Given the description of an element on the screen output the (x, y) to click on. 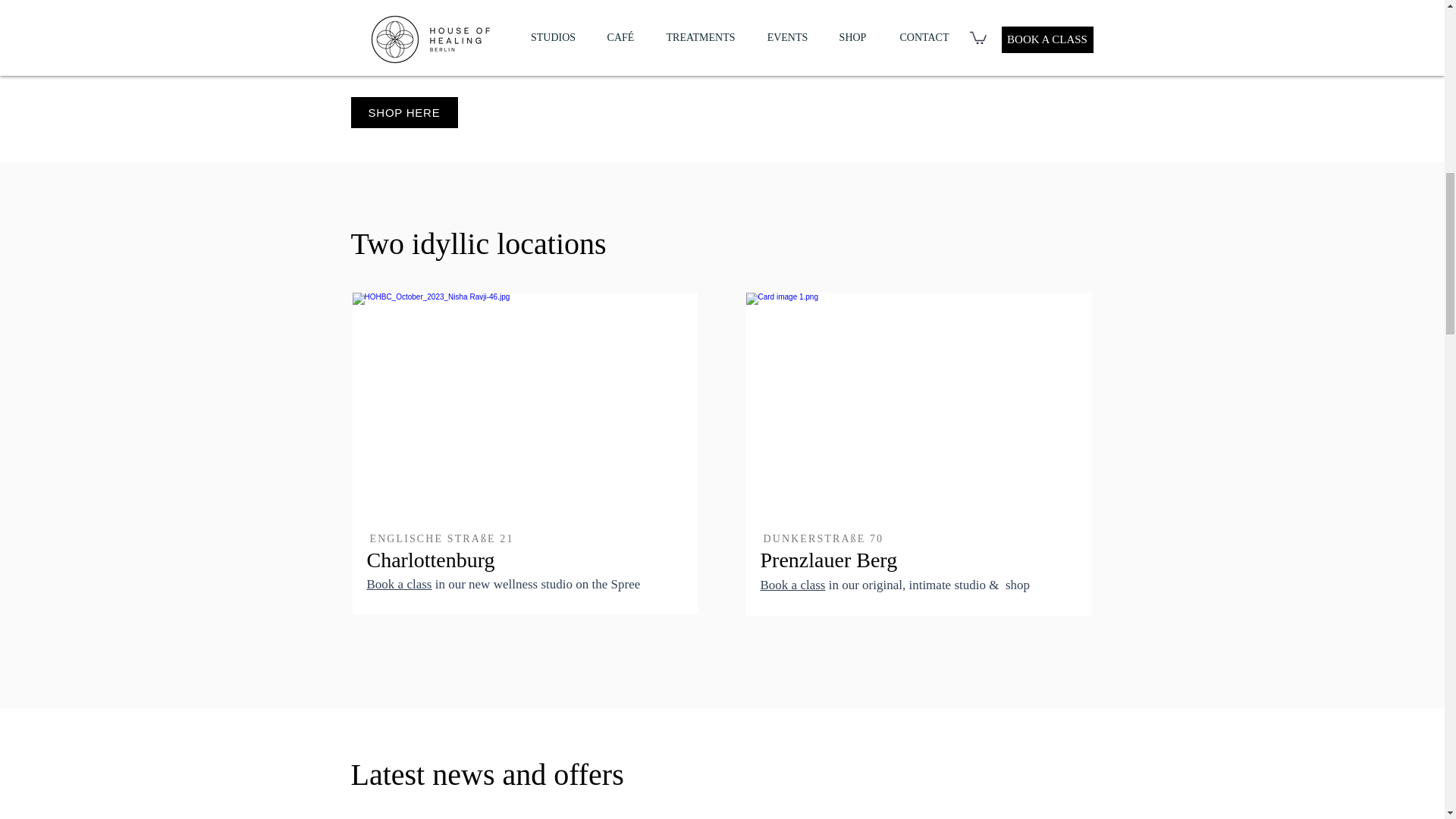
Prenzlauer Berg (828, 559)
Book a class (399, 584)
SHOP HERE (403, 112)
 in our new wellness studio on the Spree (535, 584)
Book a class (792, 585)
